Given the description of an element on the screen output the (x, y) to click on. 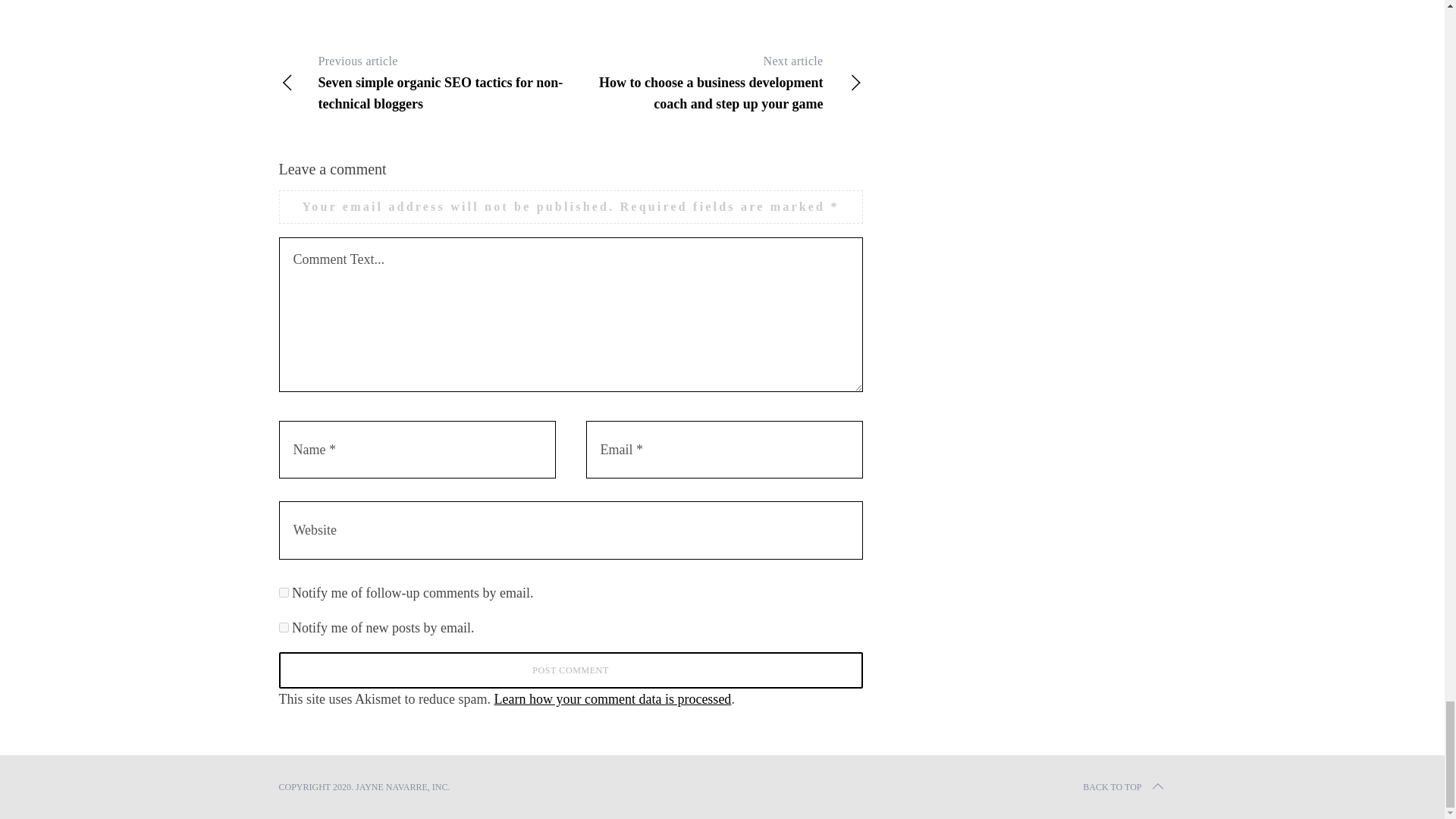
subscribe (283, 592)
Post Comment (571, 669)
subscribe (283, 627)
